Given the description of an element on the screen output the (x, y) to click on. 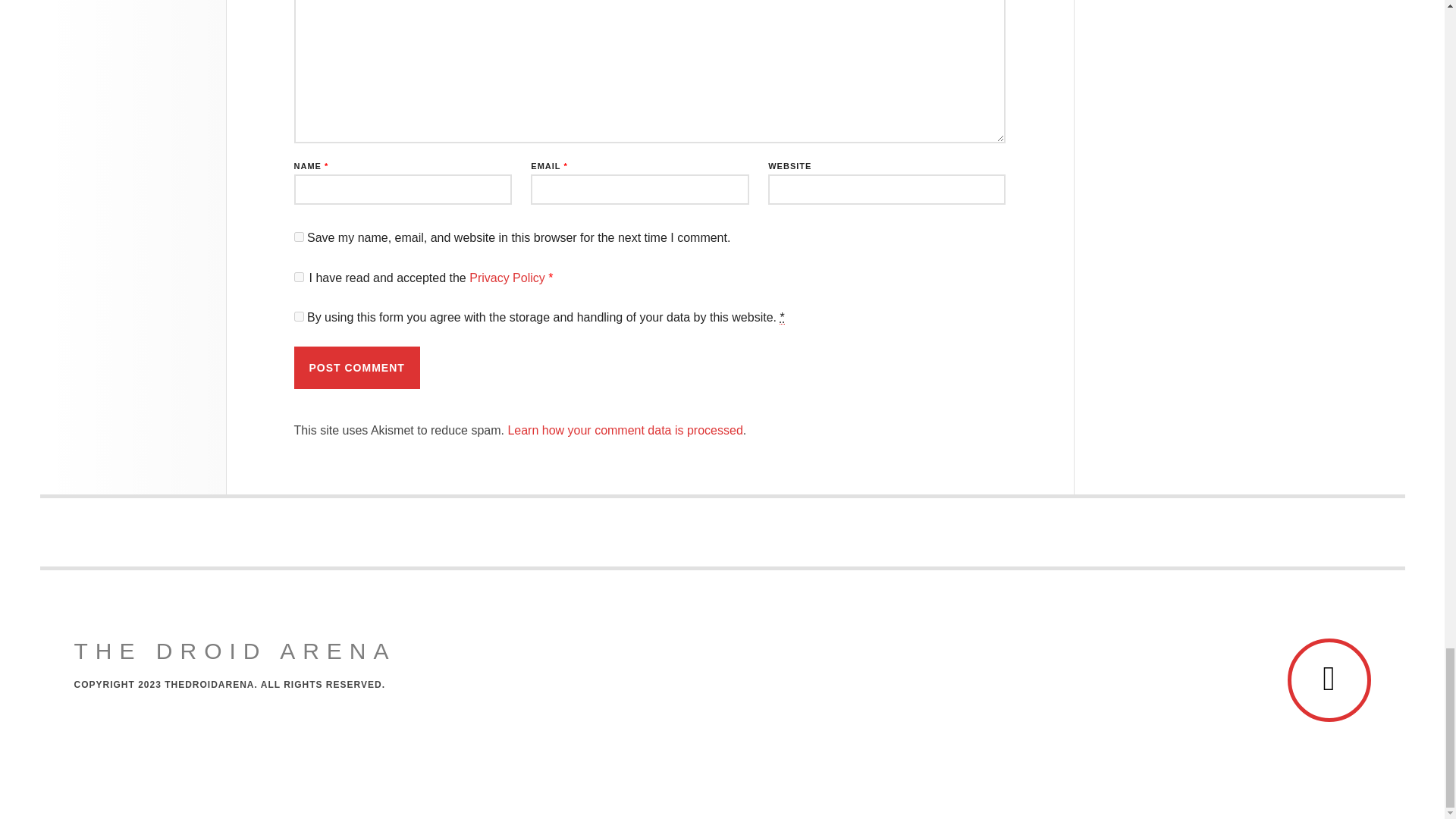
Post Comment (357, 367)
yes (299, 236)
policy-key (299, 276)
1 (299, 316)
